Given the description of an element on the screen output the (x, y) to click on. 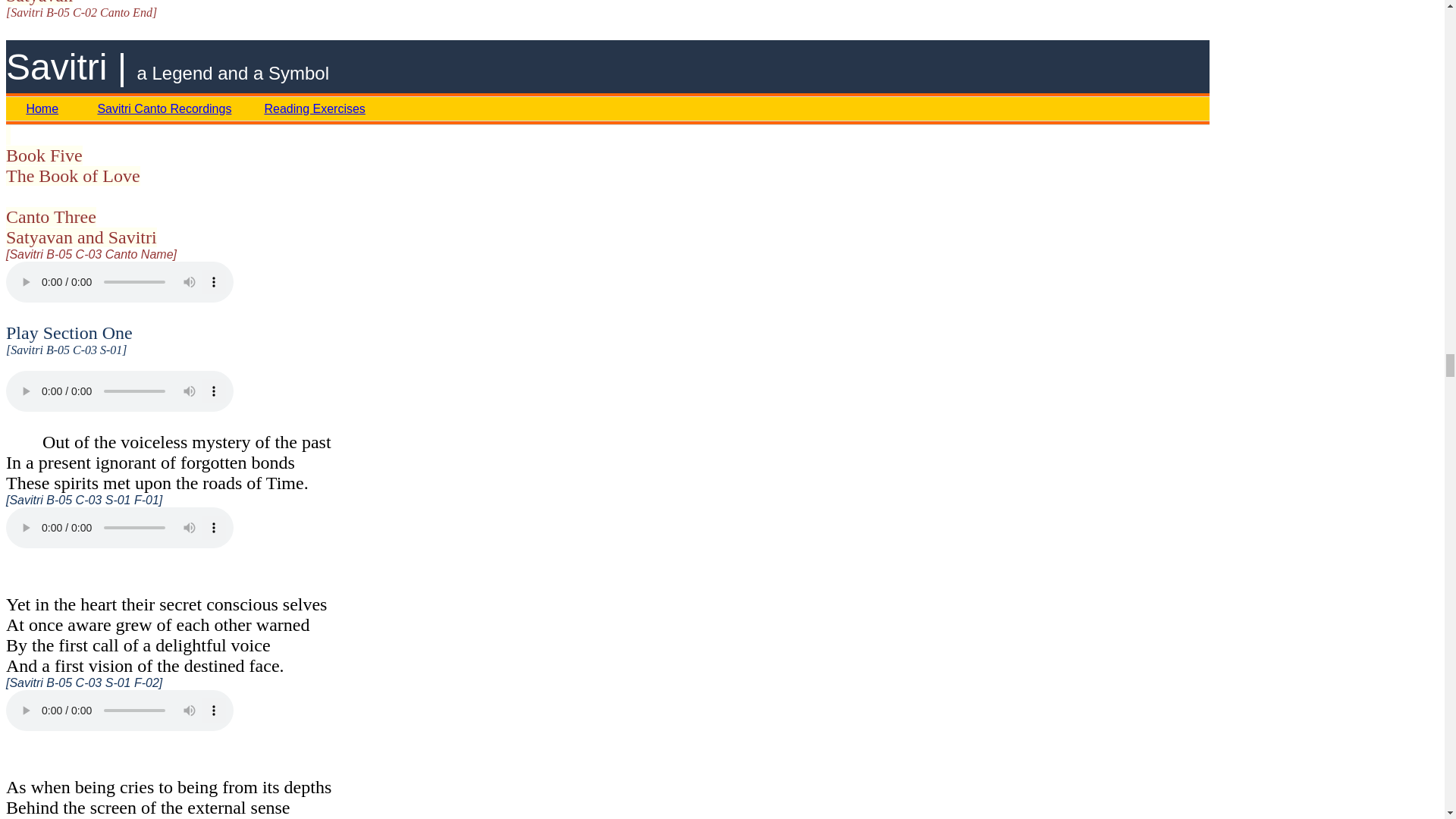
Reading Exercises (314, 107)
Savitri Canto Recordings (164, 107)
Home (42, 107)
